Given the description of an element on the screen output the (x, y) to click on. 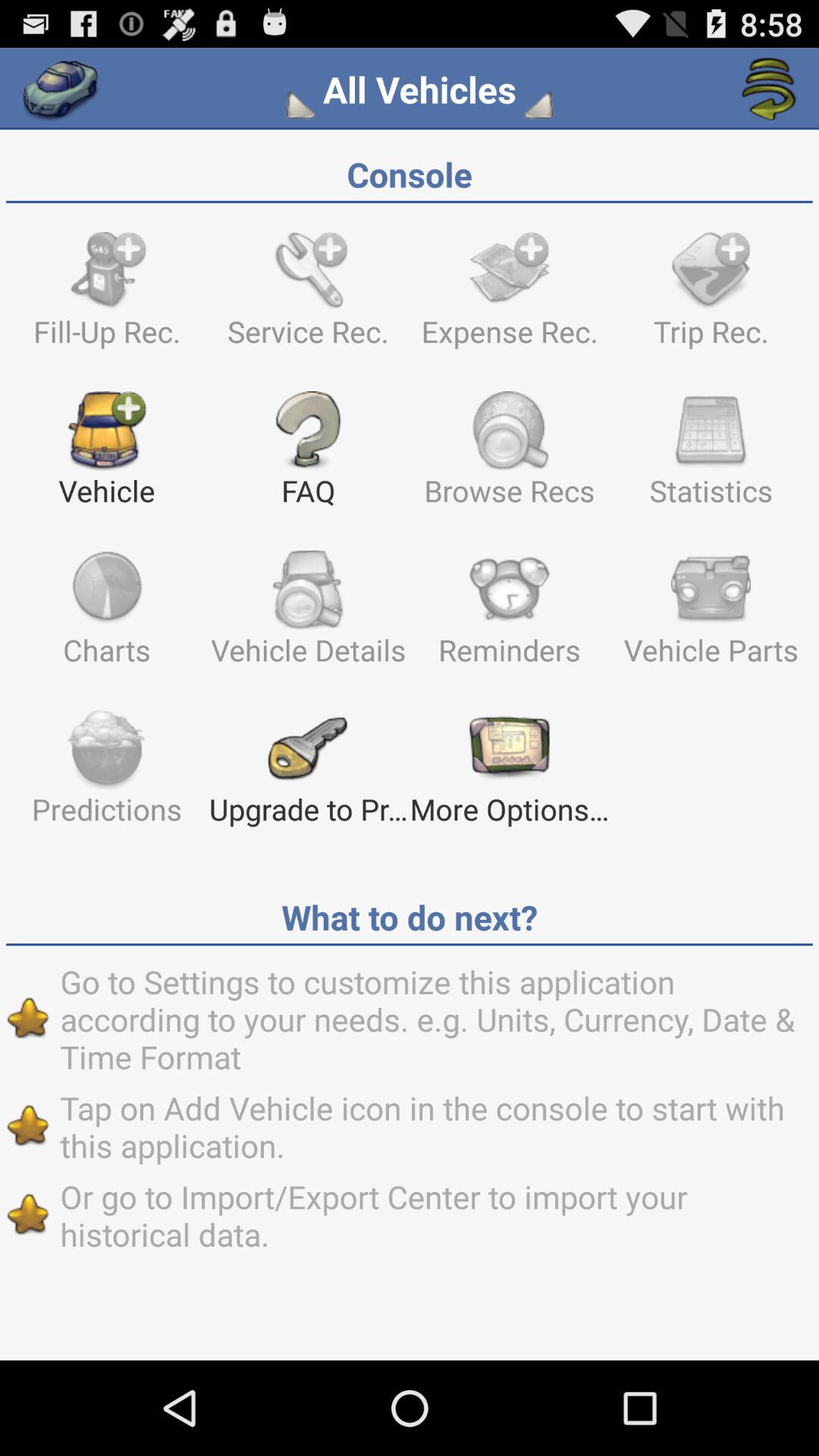
tap app below charts app (106, 773)
